Given the description of an element on the screen output the (x, y) to click on. 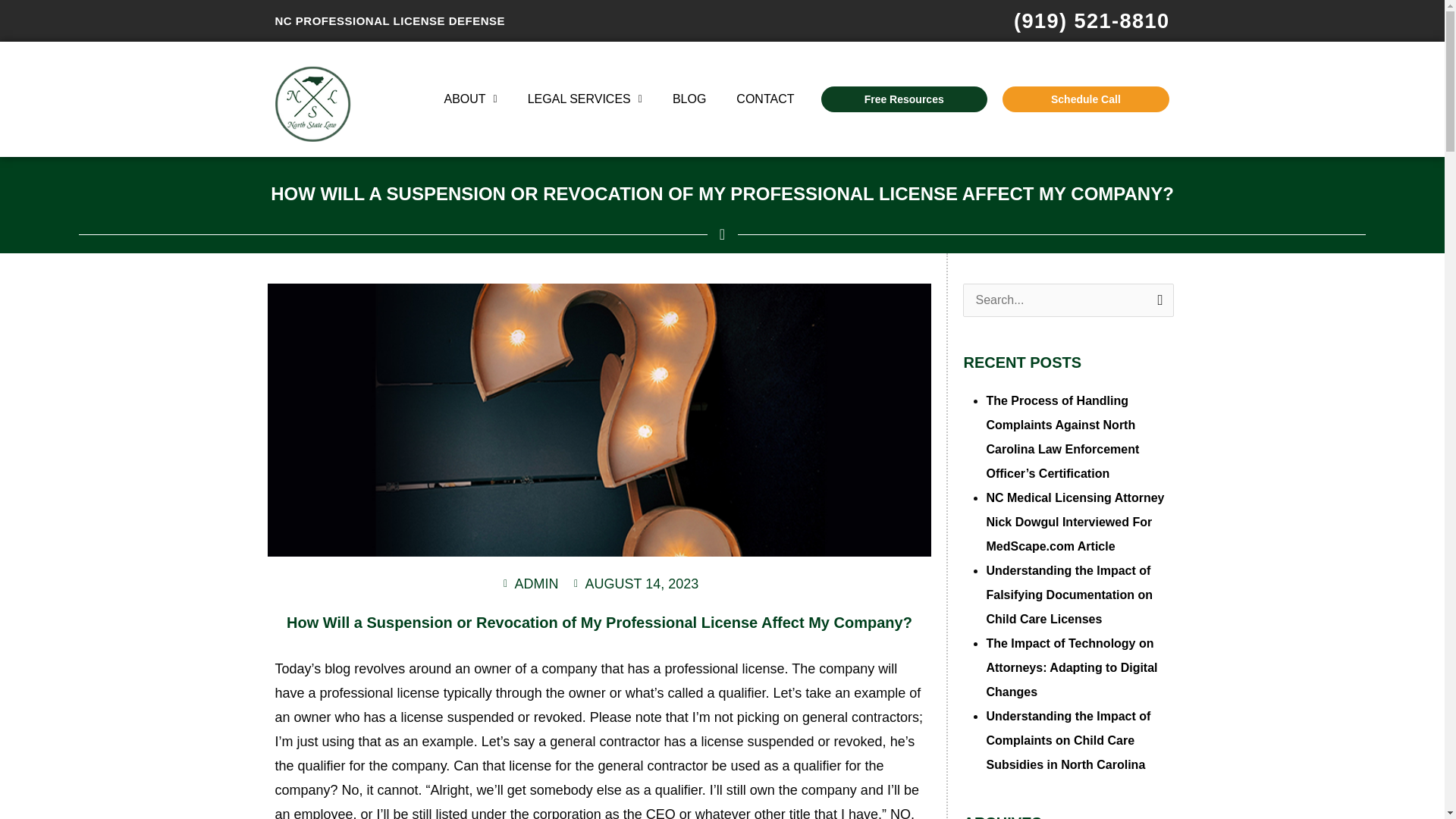
Free Resources (904, 99)
ABOUT (470, 99)
CONTACT (765, 99)
BLOG (689, 99)
Schedule Call (1086, 99)
LEGAL SERVICES (584, 99)
